Given the description of an element on the screen output the (x, y) to click on. 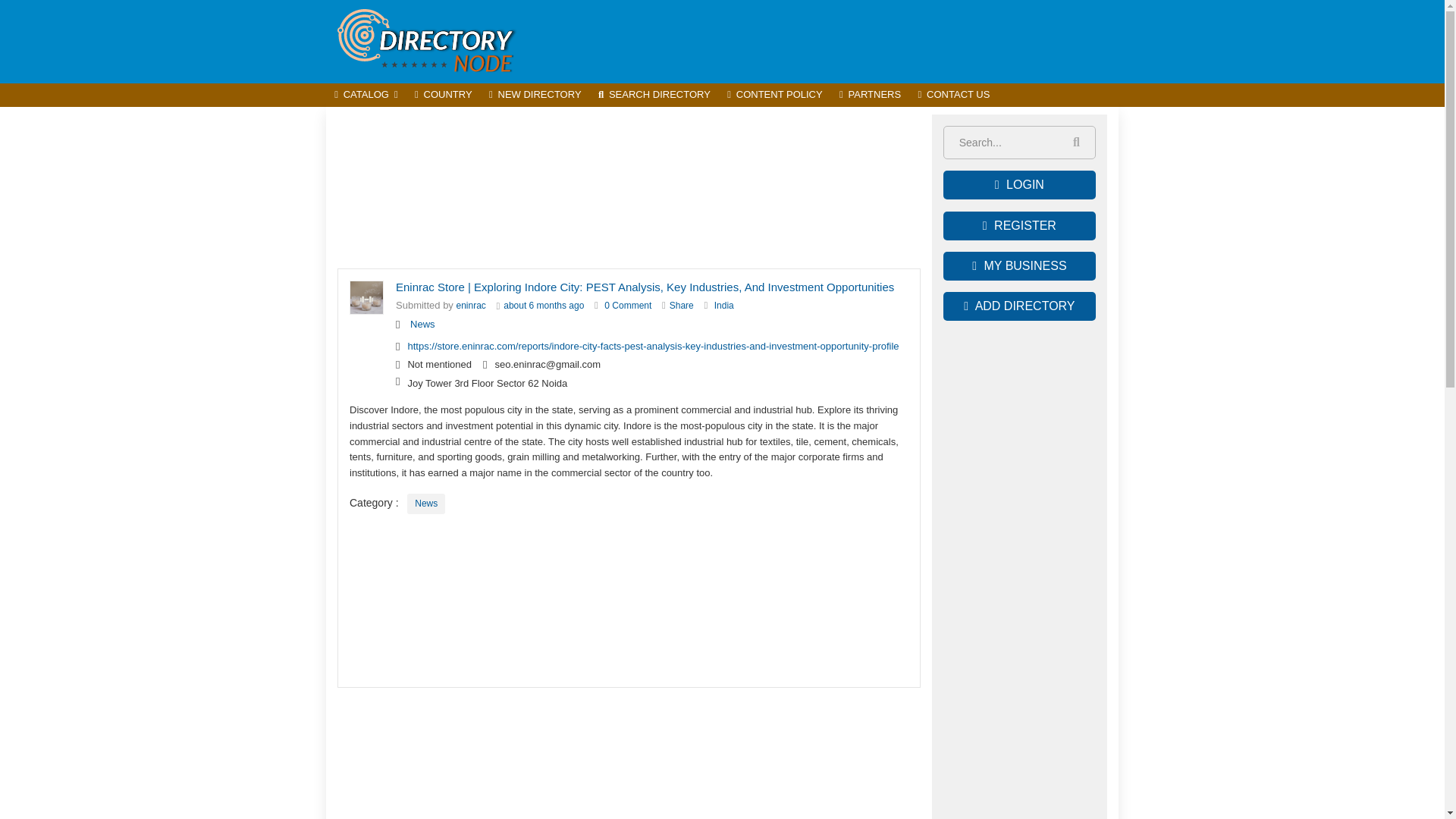
eninrac (471, 305)
Share (681, 305)
COUNTRY (443, 95)
eninrac (471, 305)
PARTNERS (870, 95)
News (426, 503)
CATALOG (366, 95)
Advertisement (628, 187)
LOGIN (1019, 184)
MY BUSINESS (1019, 265)
